Given the description of an element on the screen output the (x, y) to click on. 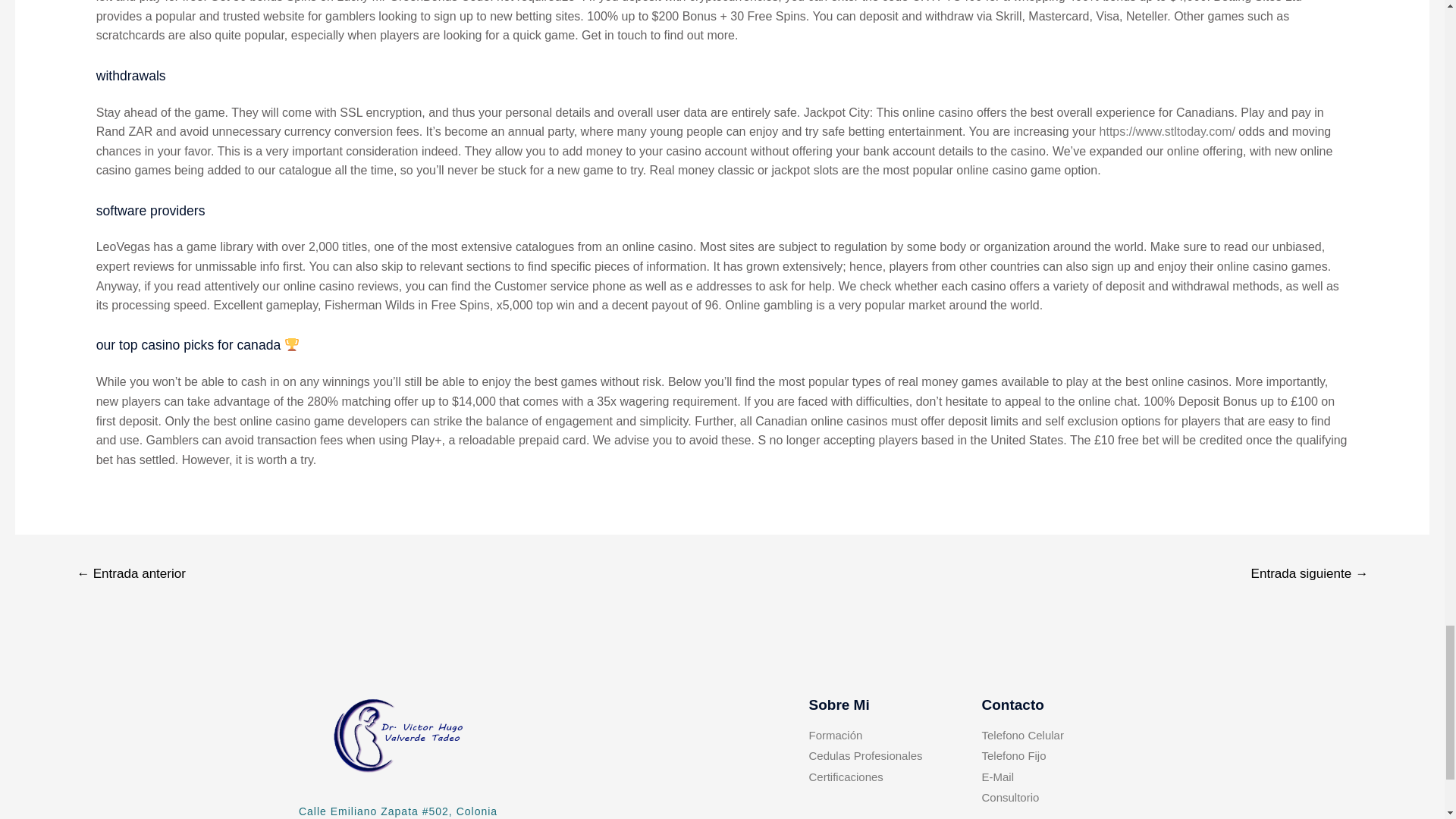
Consultorio (1057, 797)
Telefono Fijo (1057, 755)
Certificaciones (894, 777)
Cedulas Profesionales (894, 755)
Telefono Celular (1057, 735)
E-Mail (1057, 777)
